Given the description of an element on the screen output the (x, y) to click on. 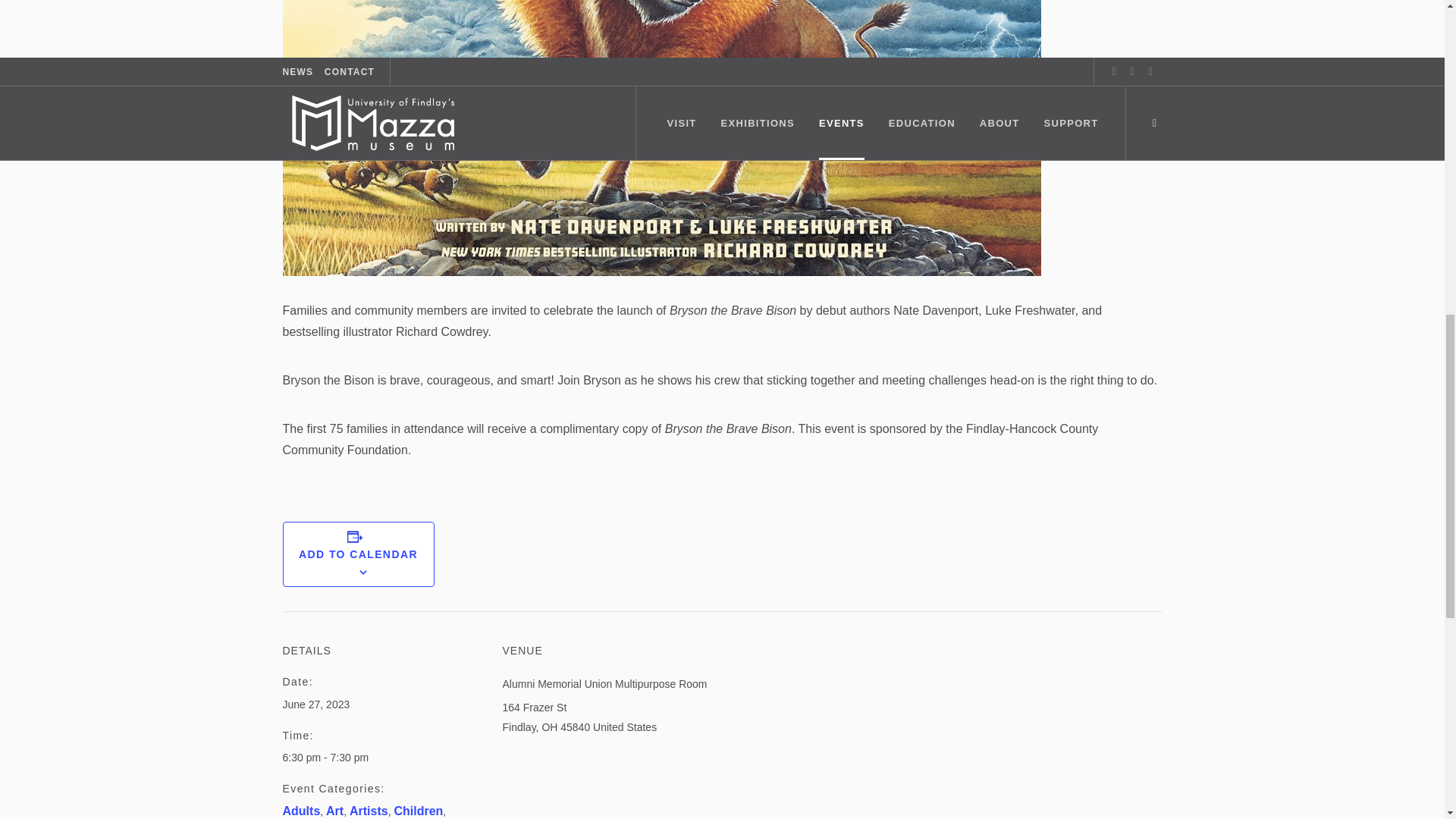
Children (417, 810)
Art (334, 810)
Adults (301, 810)
2023-06-27 (392, 757)
ADD TO CALENDAR (357, 553)
Artists (368, 810)
2023-06-27 (315, 703)
